Given the description of an element on the screen output the (x, y) to click on. 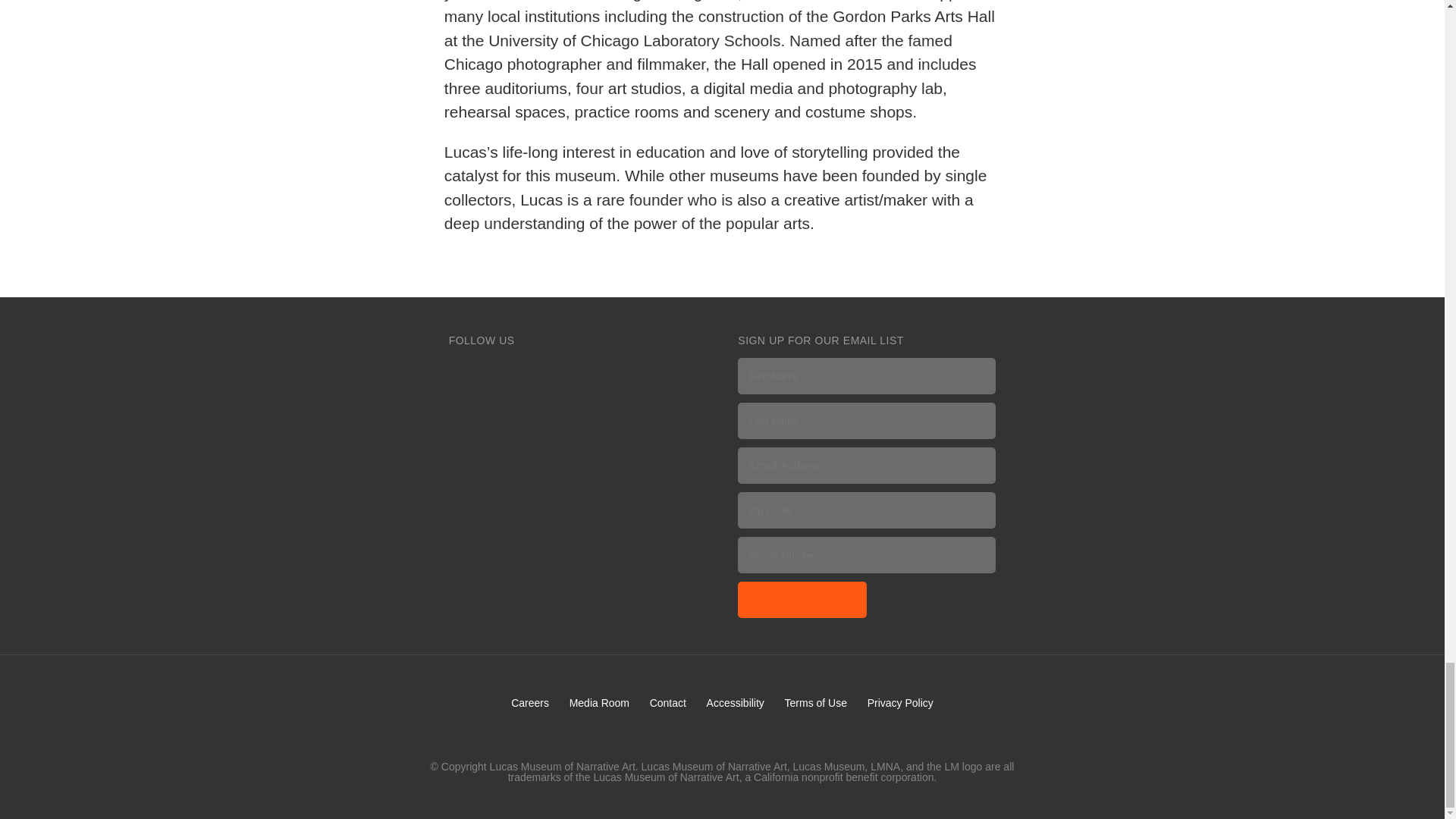
YouTube (597, 372)
LinkedIn (641, 372)
Careers (529, 702)
Instagram (552, 372)
Privacy Policy (900, 702)
Instagram (552, 372)
Accessibility (735, 702)
YouTube (597, 372)
Facebook (463, 372)
Terms of Use (815, 702)
Facebook (463, 372)
Contact (667, 702)
Twitter (507, 372)
LinkedIn (641, 372)
Subscribe (802, 599)
